Given the description of an element on the screen output the (x, y) to click on. 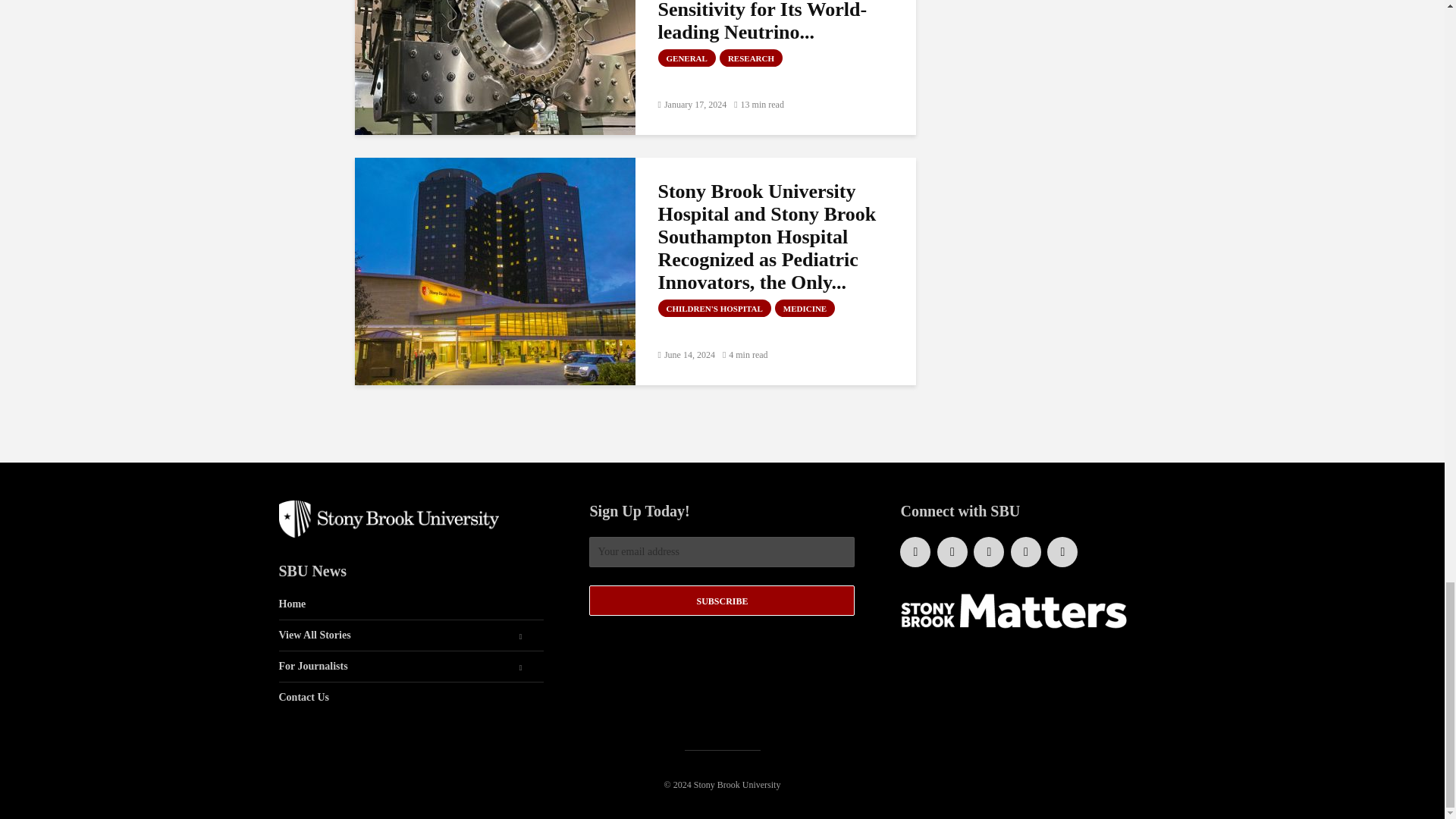
Subscribe (721, 600)
